Given the description of an element on the screen output the (x, y) to click on. 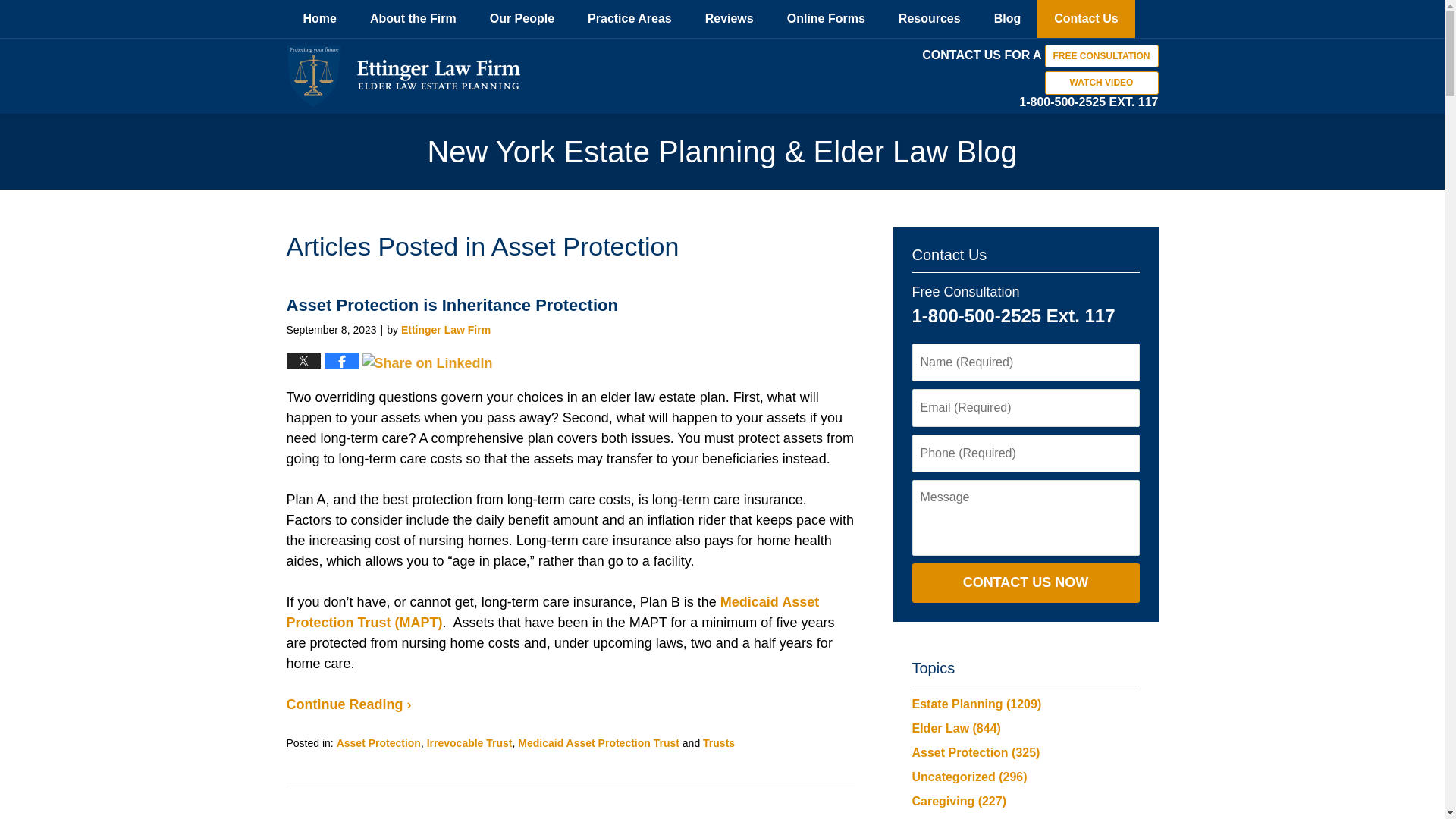
Home (319, 18)
View all posts in Irrevocable Trust (469, 743)
1-800-500-2525 EXT. 117 (1088, 101)
Continue Reading Asset Protection is Inheritance Protection (349, 703)
Reviews (729, 18)
View all posts in Trusts (719, 743)
View all posts in Medicaid Asset Protection Trust (598, 743)
WATCH VIDEO (1101, 83)
Permalink to Asset Protection is Inheritance Protection (451, 304)
Resources (929, 18)
Contact Us (1085, 18)
View all posts in Asset Protection (378, 743)
Practice Areas (629, 18)
Our People (521, 18)
